Given the description of an element on the screen output the (x, y) to click on. 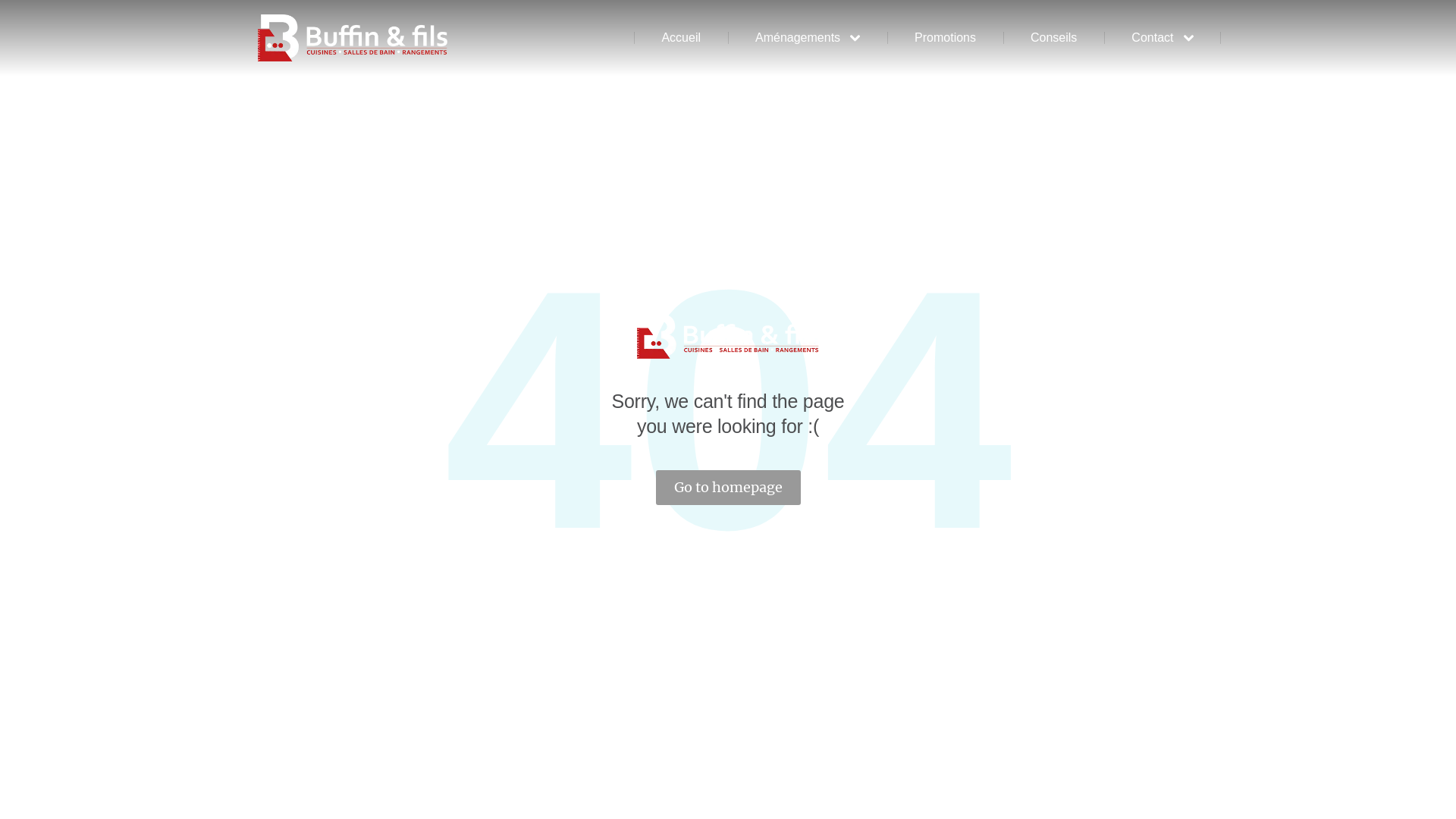
Contact Element type: text (1162, 37)
Conseils Element type: text (1053, 37)
Go to homepage Element type: text (727, 487)
Accueil Element type: text (680, 37)
Promotions Element type: text (945, 37)
